Given the description of an element on the screen output the (x, y) to click on. 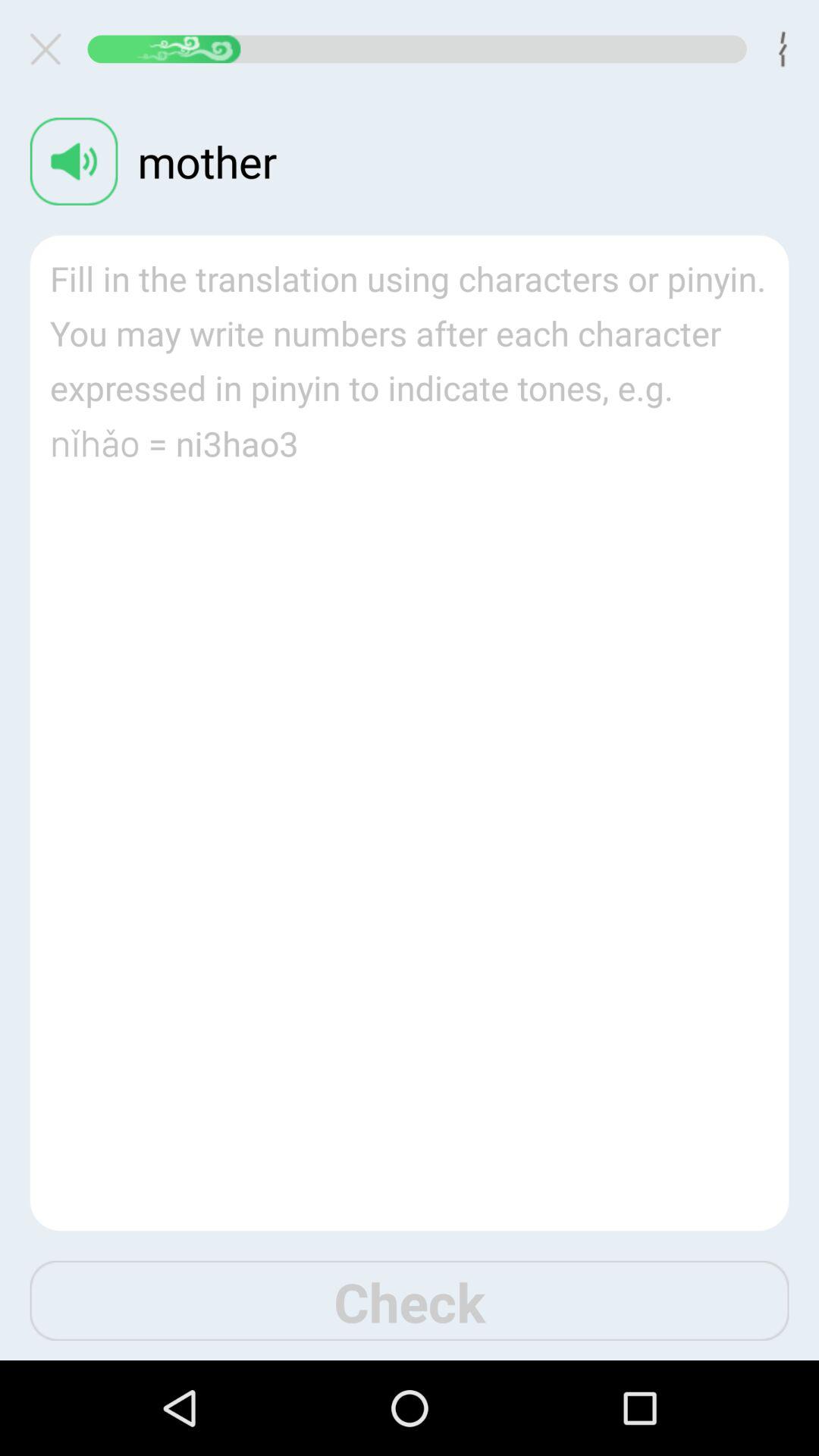
close button (51, 49)
